Given the description of an element on the screen output the (x, y) to click on. 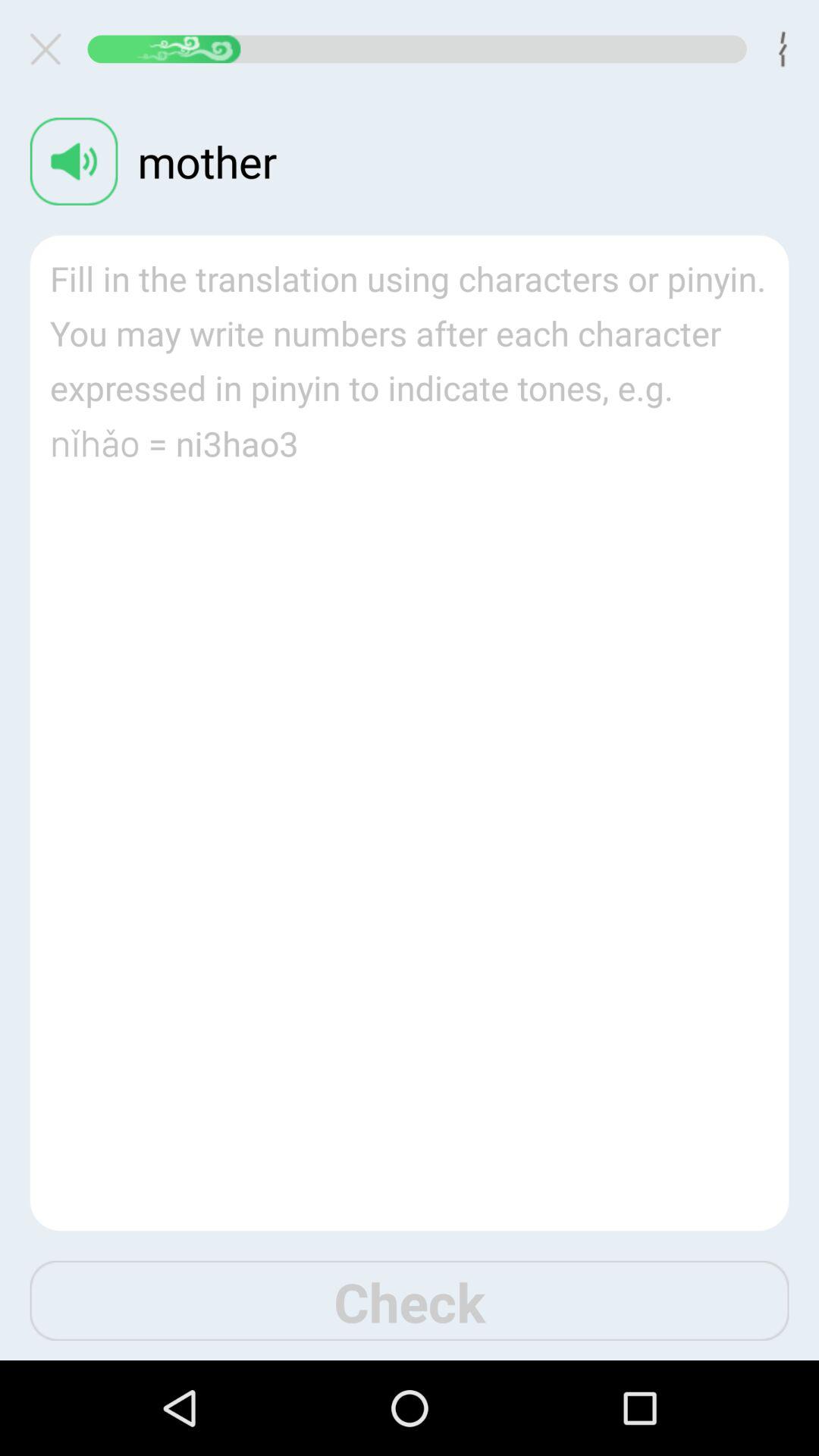
close button (51, 49)
